Given the description of an element on the screen output the (x, y) to click on. 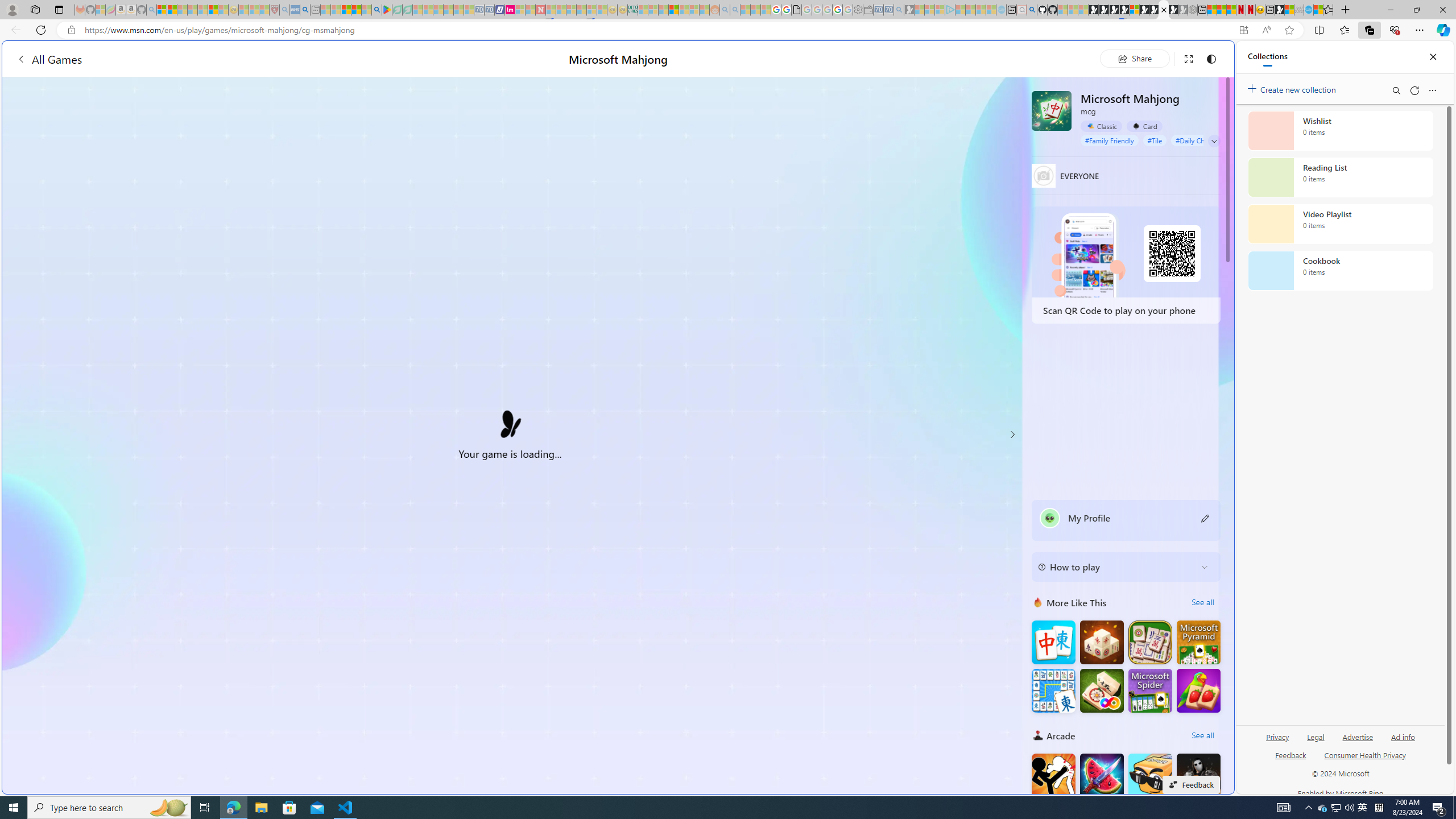
Card (1143, 126)
Microsoft Pyramid Solitaire (1198, 642)
Pets - MSN (356, 9)
